Given the description of an element on the screen output the (x, y) to click on. 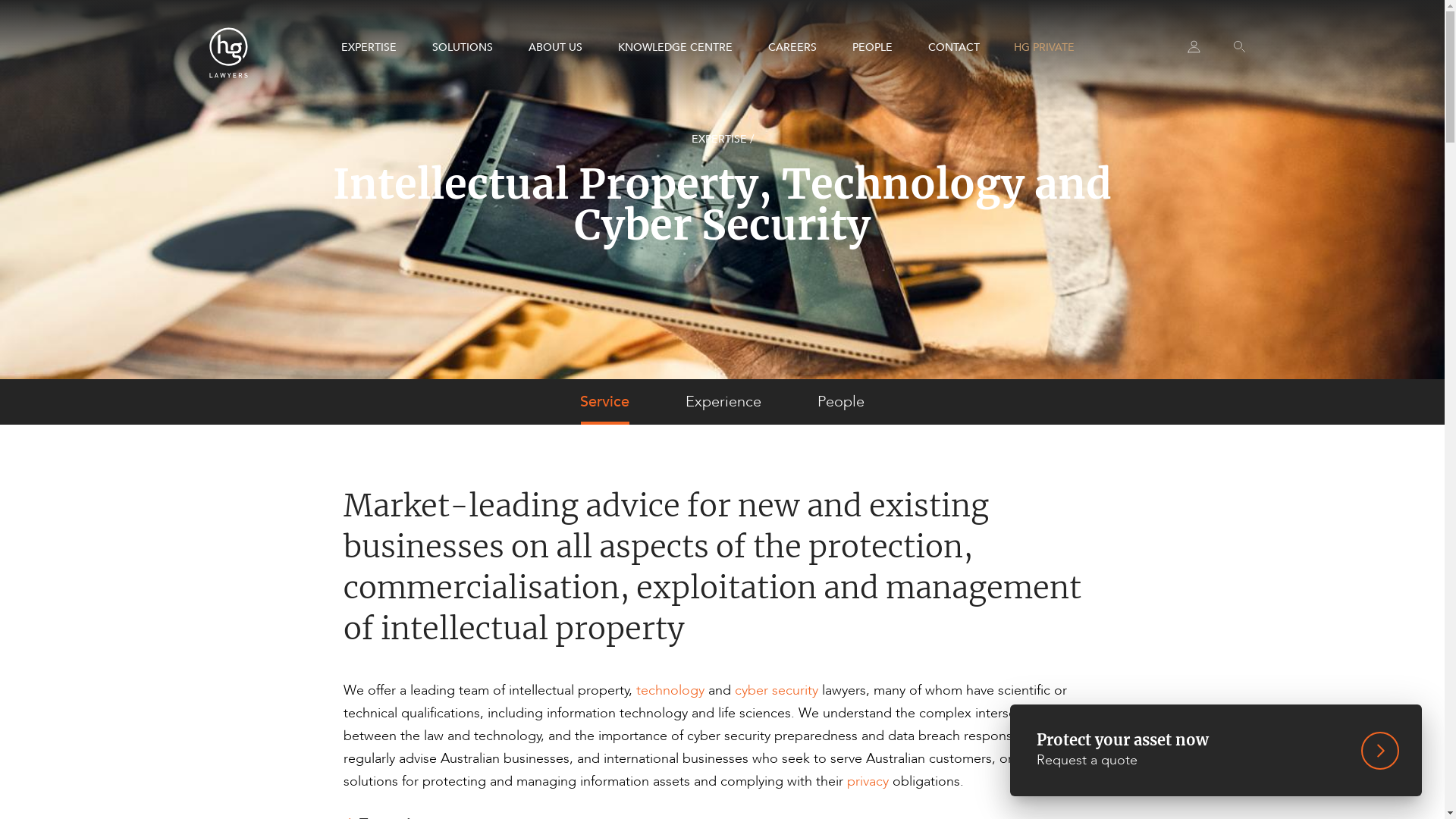
EXPERTISE Element type: text (718, 138)
Protect your asset now
Request a quote Element type: text (1215, 750)
Service Element type: text (604, 401)
EXPERTISE Element type: text (368, 47)
technology Element type: text (669, 689)
HG PRIVATE Element type: text (1043, 47)
CONTACT Element type: text (953, 47)
SOLUTIONS Element type: text (462, 47)
cyber security Element type: text (775, 689)
People Element type: text (840, 401)
CAREERS Element type: text (791, 47)
Experience Element type: text (723, 401)
privacy Element type: text (867, 780)
KNOWLEDGE CENTRE Element type: text (674, 47)
ABOUT US Element type: text (554, 47)
PEOPLE Element type: text (872, 47)
